Given the description of an element on the screen output the (x, y) to click on. 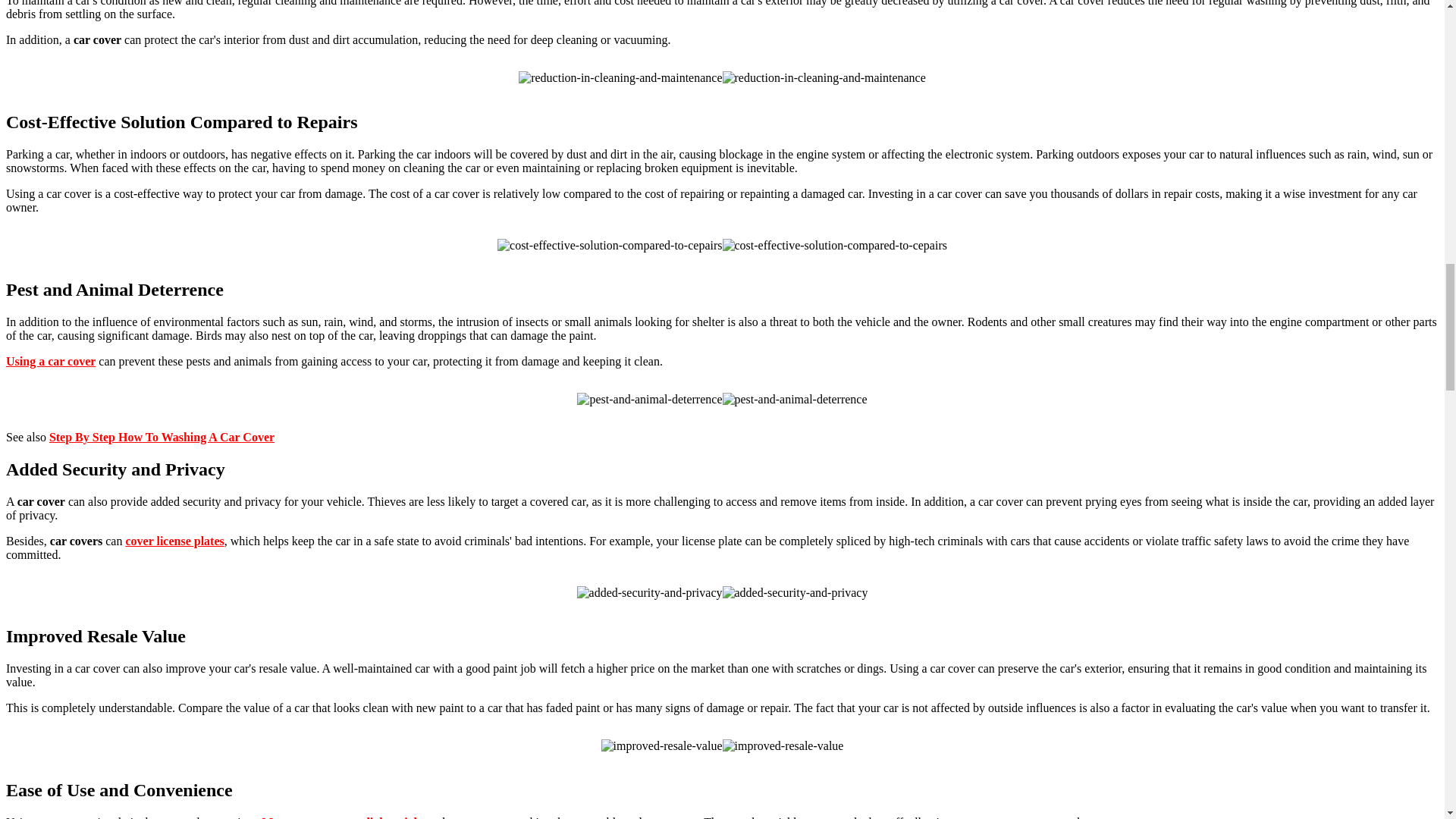
Using a car cover (50, 360)
Step By Step How To Washing A Car Cover (162, 436)
